Given the description of an element on the screen output the (x, y) to click on. 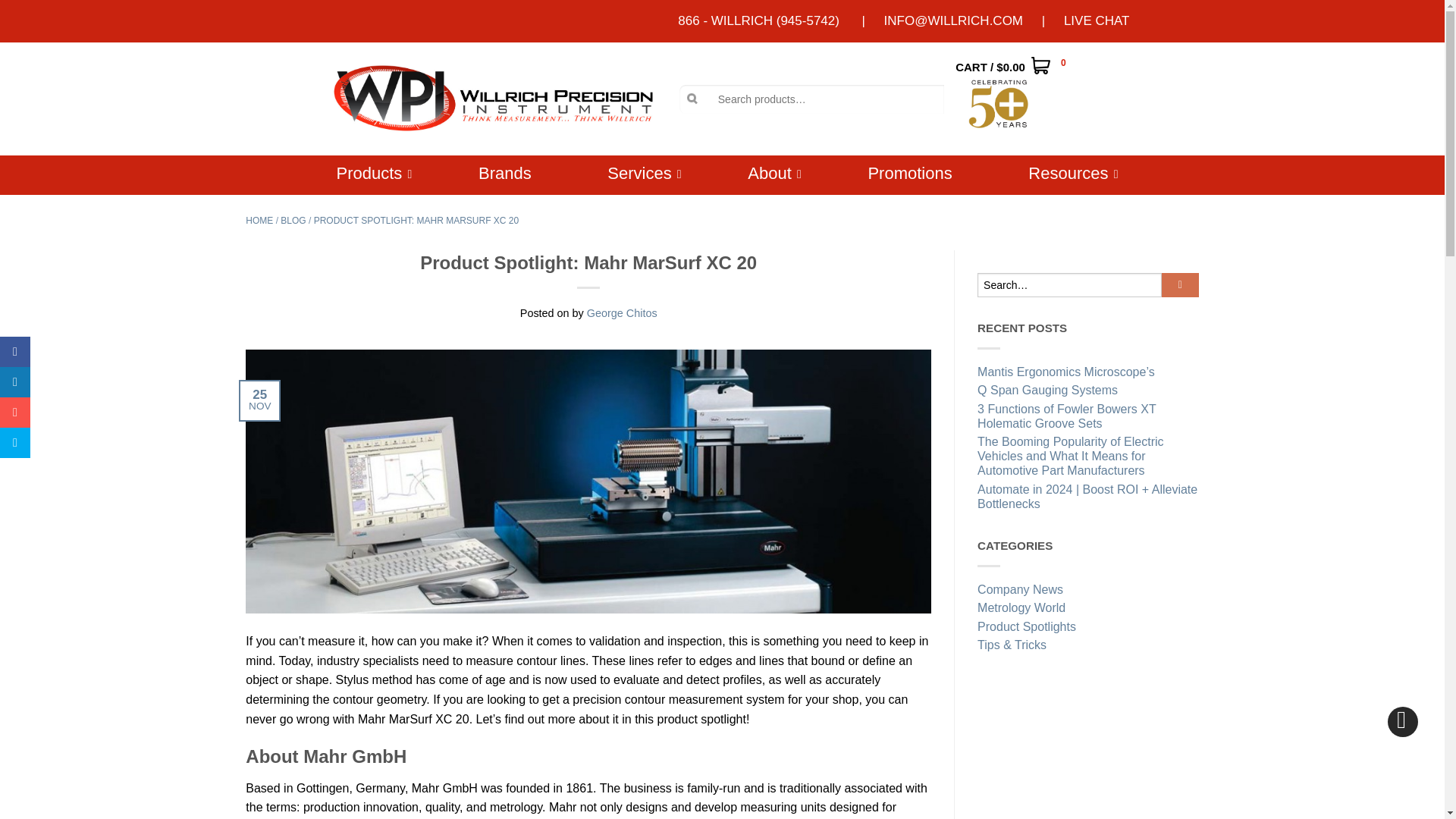
LIVE CHAT (1096, 20)
Products (369, 173)
Search (18, 15)
